Given the description of an element on the screen output the (x, y) to click on. 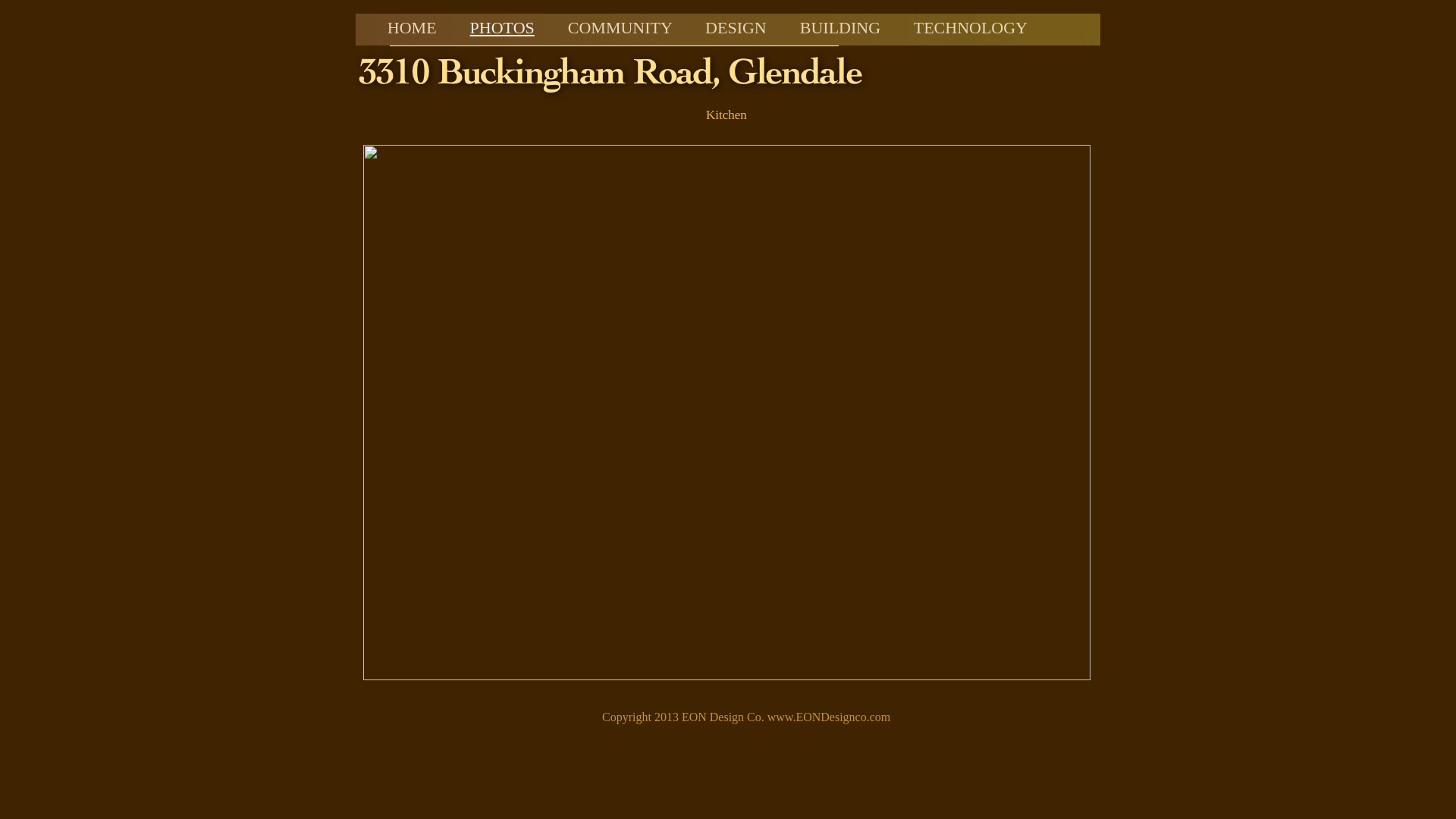
COMMUNITY Element type: text (619, 27)
DESIGN Element type: text (735, 27)
PHOTOS Element type: text (502, 27)
BUILDING Element type: text (840, 27)
TECHNOLOGY Element type: text (970, 27)
www.EONDesignco.com Element type: text (828, 716)
HOME Element type: text (411, 27)
